Given the description of an element on the screen output the (x, y) to click on. 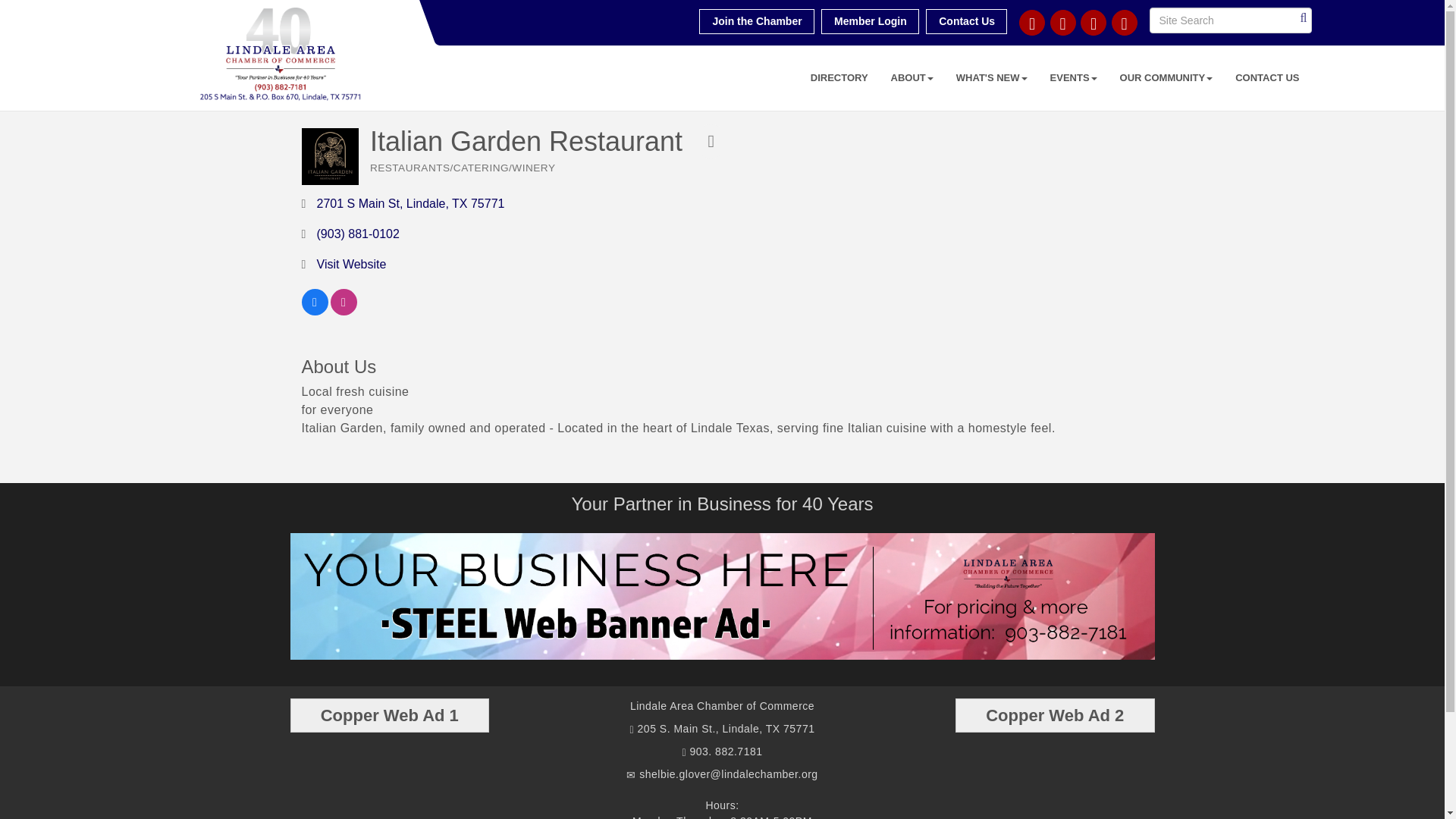
View on Facebook (315, 310)
Icon Link (1032, 22)
Join the Chamber (755, 21)
ABOUT (911, 77)
Icon Link (1124, 22)
Icon Link (1093, 22)
Member Login (869, 21)
EVENTS (1073, 77)
Icon Link (1062, 22)
OUR COMMUNITY (1166, 77)
DIRECTORY (839, 77)
WHAT'S NEW (991, 77)
View on Instagram (343, 310)
Contact Us (966, 21)
Italian Garden Restaurant (329, 156)
